Given the description of an element on the screen output the (x, y) to click on. 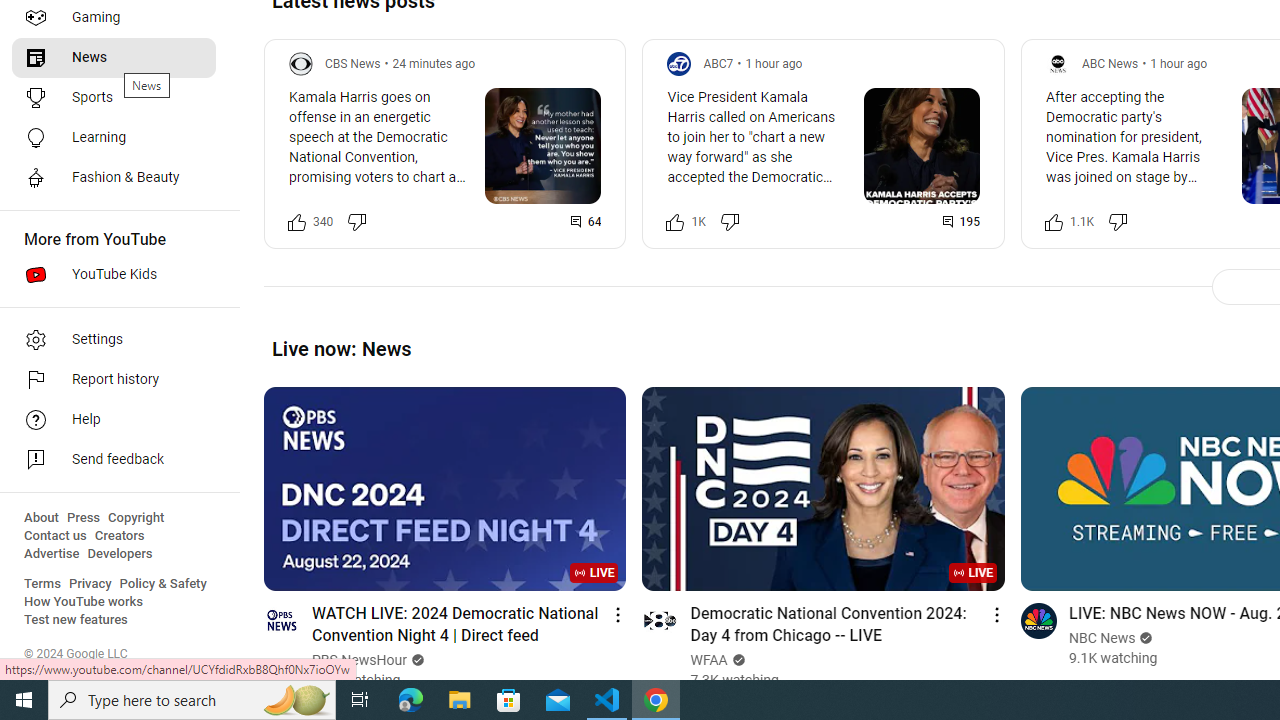
Action menu (996, 614)
Test new features (76, 620)
Send feedback (113, 459)
Developers (120, 554)
Advertise (51, 554)
About (41, 518)
ABC7 (717, 63)
